Given the description of an element on the screen output the (x, y) to click on. 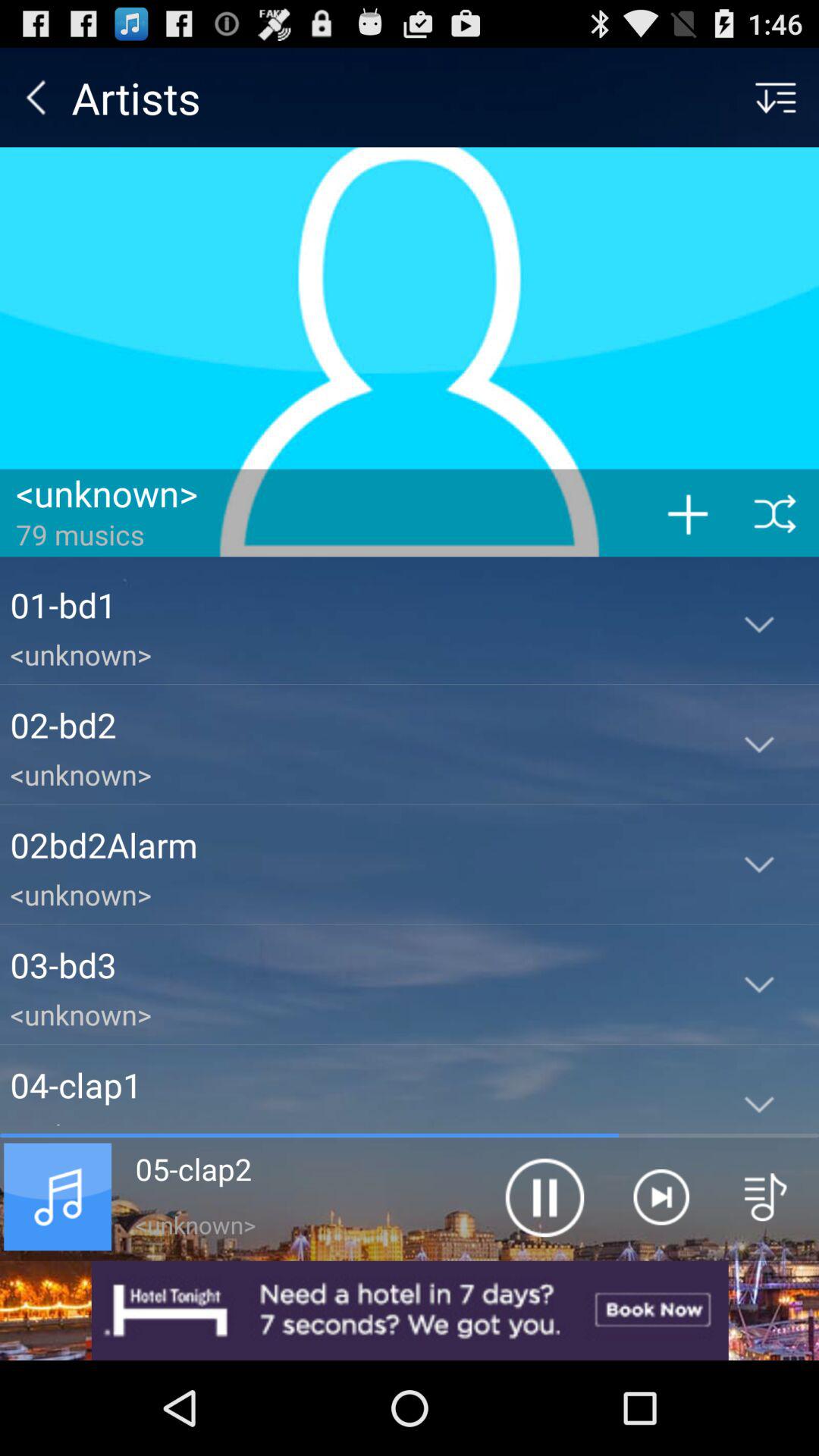
scroll until 02-bd2 app (354, 724)
